Given the description of an element on the screen output the (x, y) to click on. 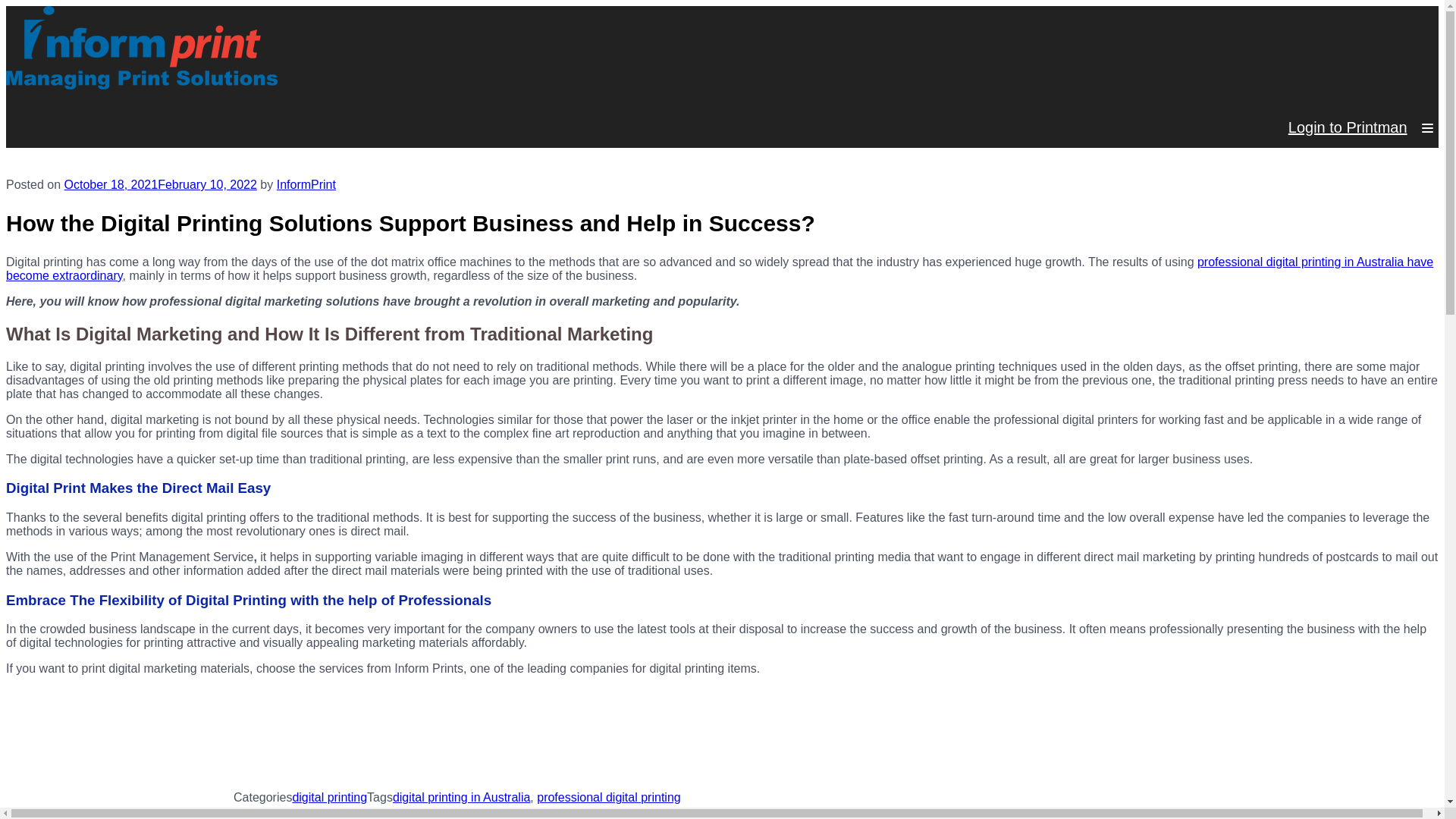
digital printing (329, 797)
professional digital printing (608, 797)
digital printing in Australia (461, 797)
October 18, 2021February 10, 2022 (160, 184)
InformPrint (306, 184)
Login to Printman (1347, 126)
